Given the description of an element on the screen output the (x, y) to click on. 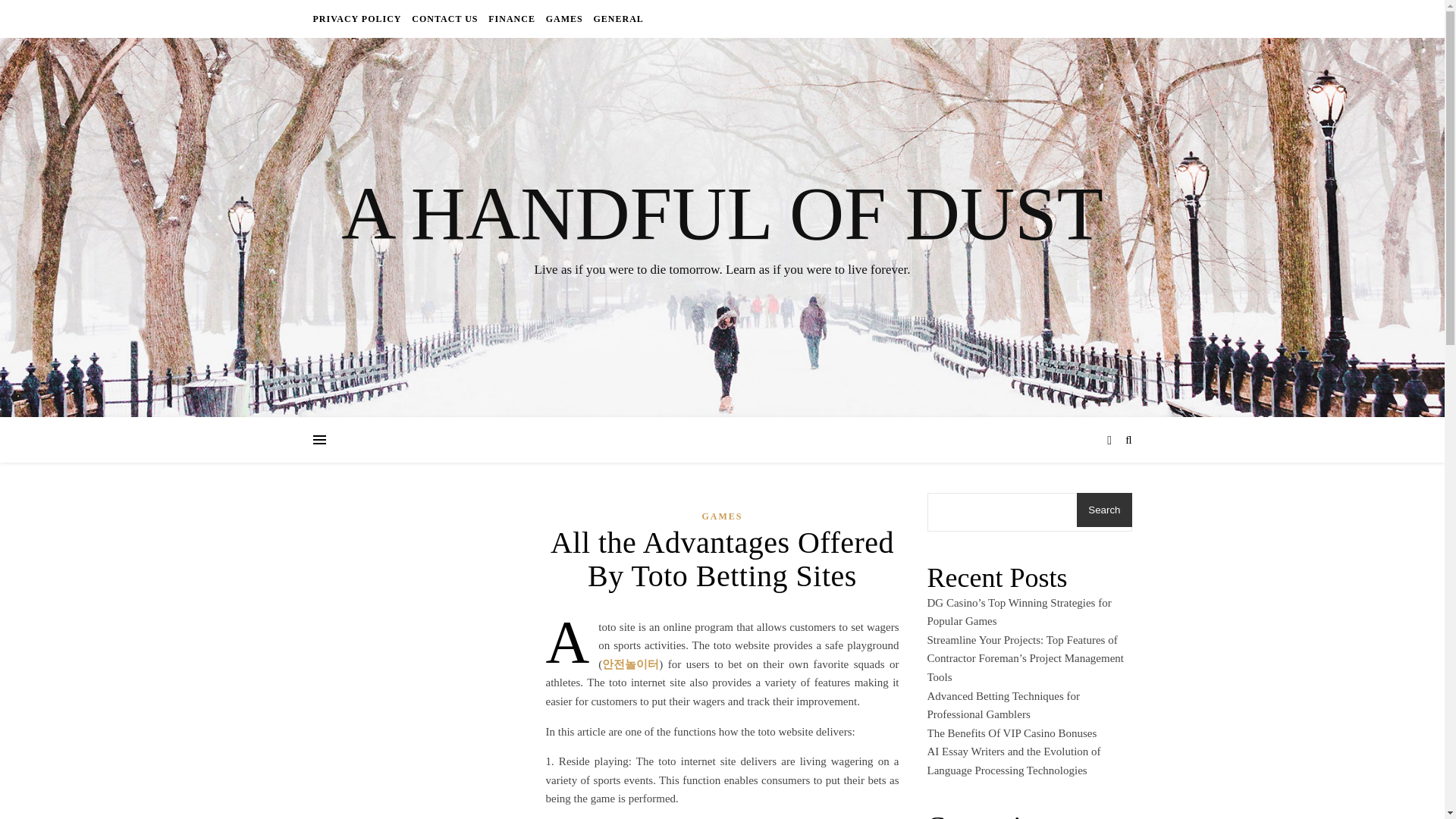
FINANCE (511, 18)
GAMES (721, 516)
PRIVACY POLICY (358, 18)
GAMES (563, 18)
GENERAL (616, 18)
Search (1104, 510)
The Benefits Of VIP Casino Bonuses (1011, 733)
Advanced Betting Techniques for Professional Gamblers (1003, 705)
CONTACT US (444, 18)
